Given the description of an element on the screen output the (x, y) to click on. 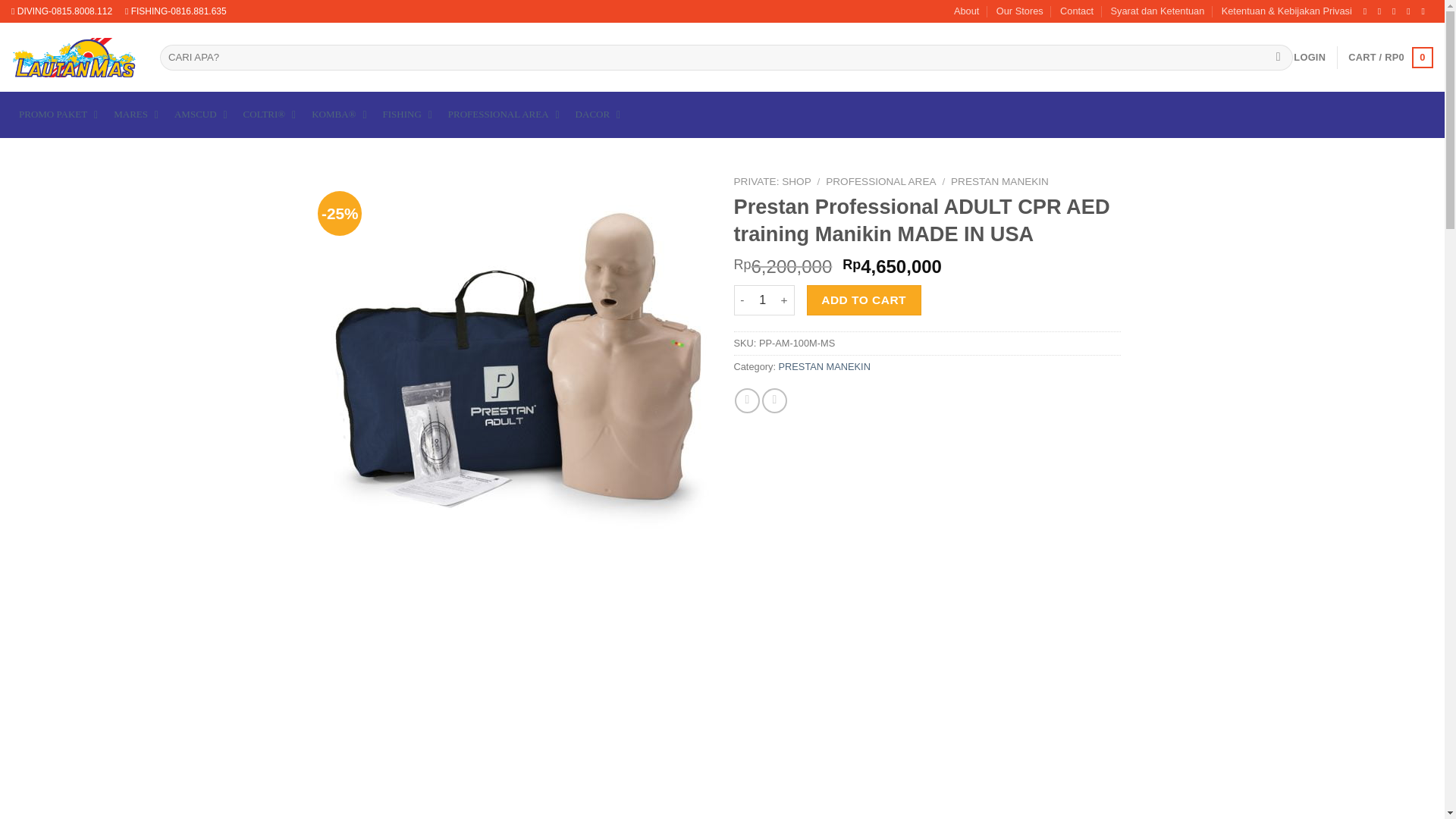
LOGIN (1309, 57)
Contact (1076, 11)
Login (1309, 57)
Share on Facebook (747, 400)
Cart (1390, 57)
MARES (136, 114)
About (965, 11)
Syarat dan Ketentuan (1157, 11)
Our Stores (1019, 11)
Search (1277, 57)
PROMO PAKET (58, 114)
